Given the description of an element on the screen output the (x, y) to click on. 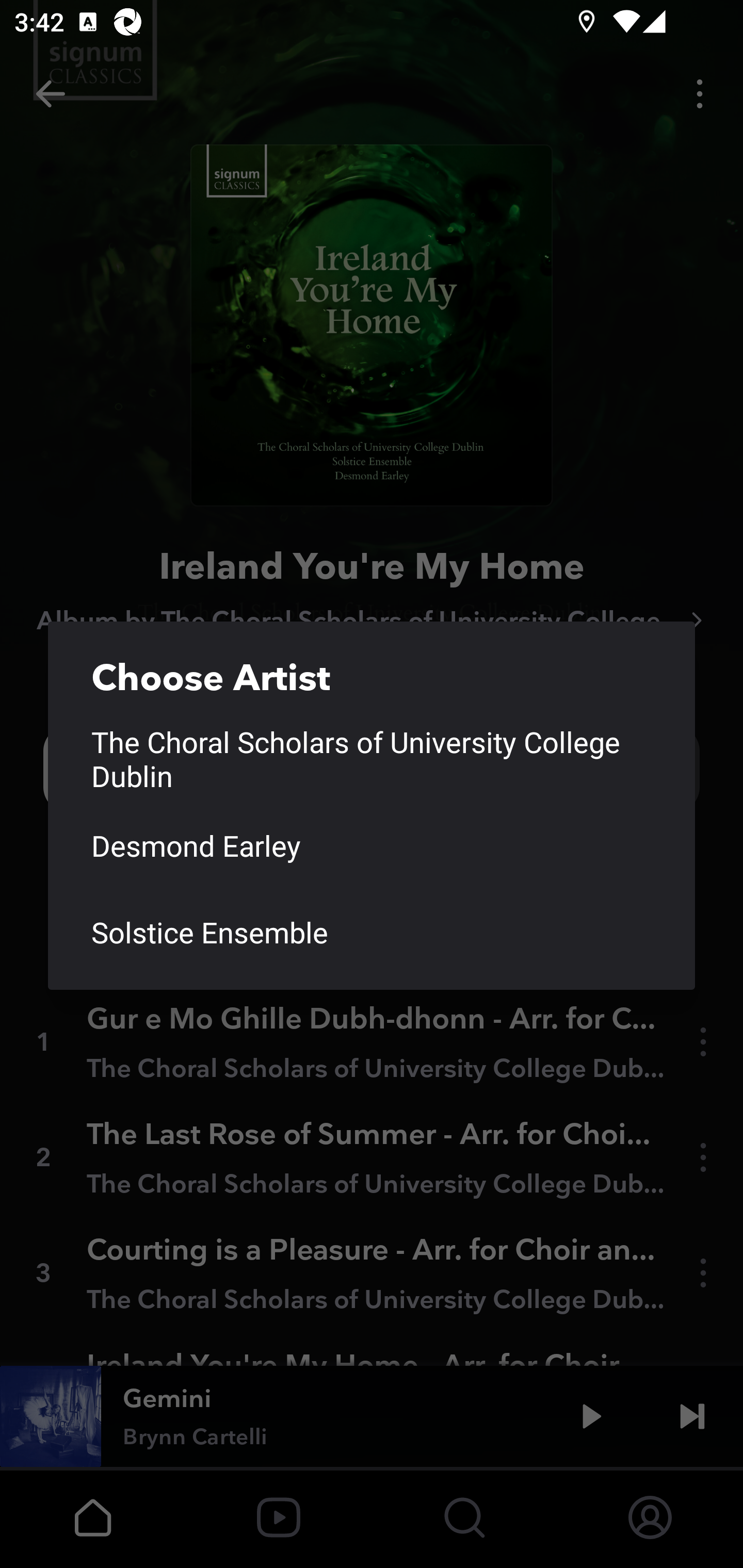
The Choral Scholars of University College Dublin (371, 758)
Desmond Earley (371, 845)
Solstice Ensemble (371, 932)
